Given the description of an element on the screen output the (x, y) to click on. 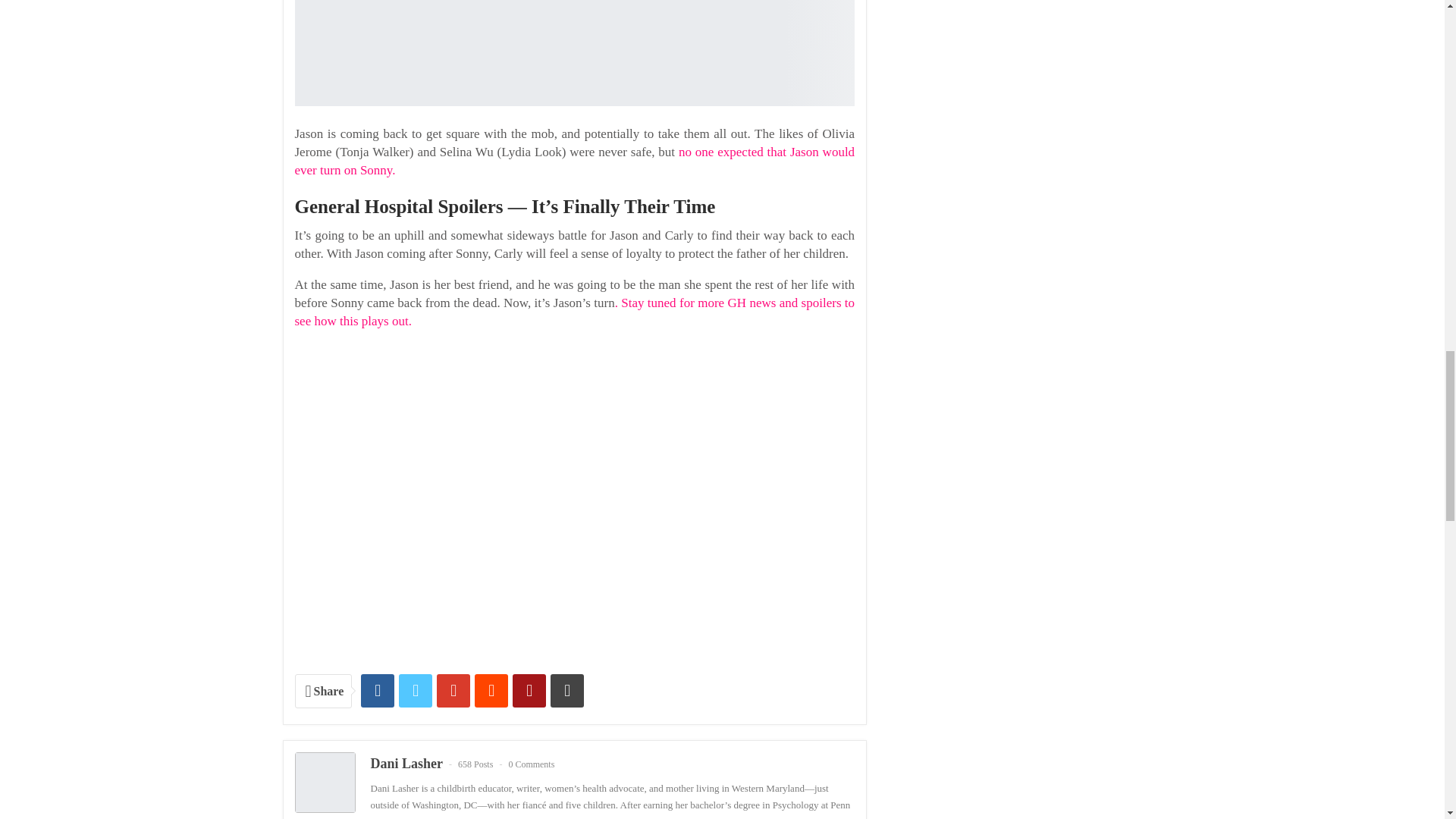
no one expected that Jason would ever turn on Sonny. (574, 160)
